Given the description of an element on the screen output the (x, y) to click on. 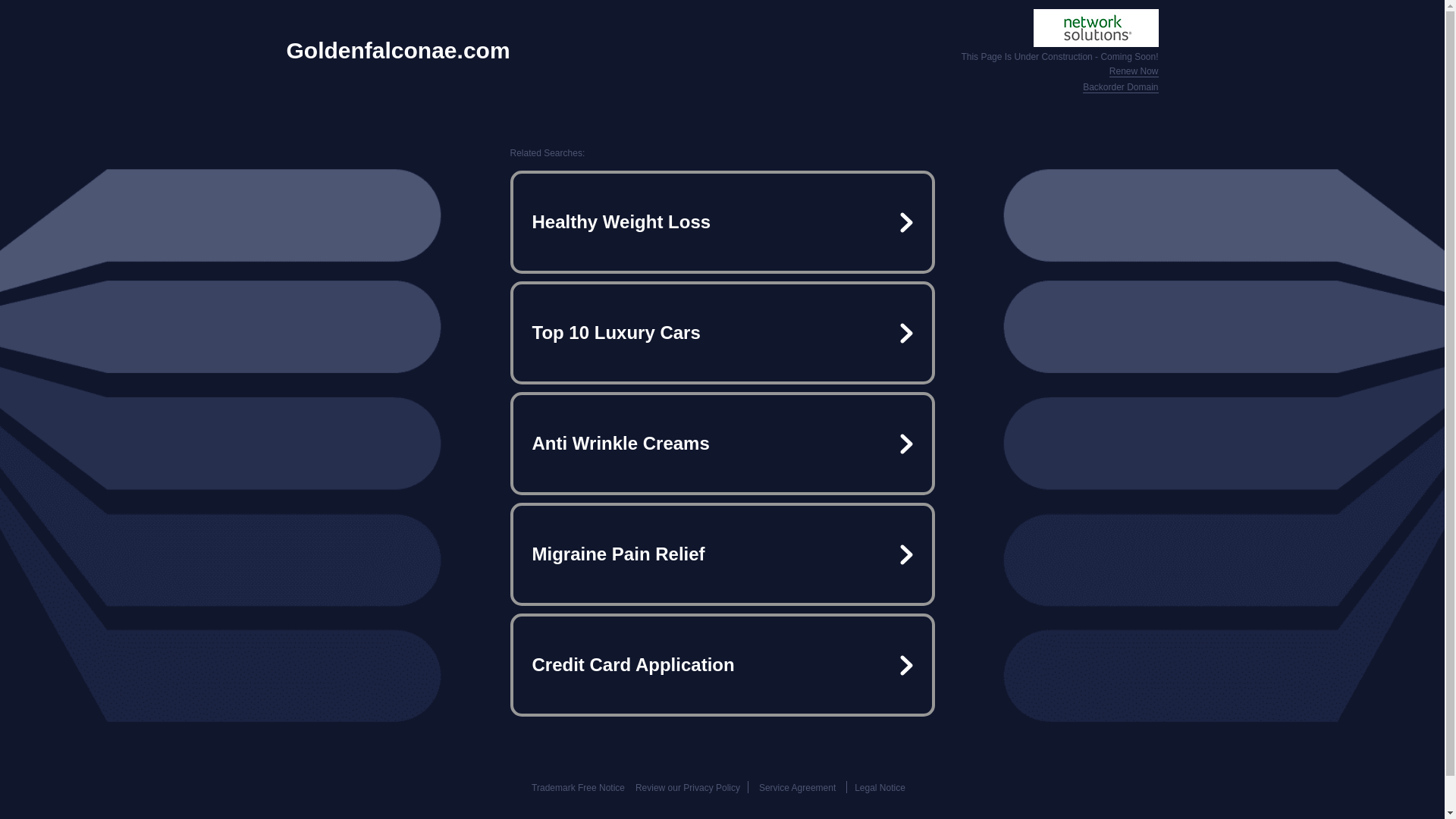
Healthy Weight Loss (721, 222)
Migraine Pain Relief (721, 554)
Renew Now (1133, 71)
Top 10 Luxury Cars (721, 332)
Backorder Domain (1120, 87)
Review our Privacy Policy (686, 787)
Goldenfalconae.com (398, 50)
Anti Wrinkle Creams (721, 443)
Migraine Pain Relief (721, 554)
Top 10 Luxury Cars (721, 332)
Trademark Free Notice (577, 787)
Credit Card Application (721, 664)
Credit Card Application (721, 664)
Anti Wrinkle Creams (721, 443)
Service Agreement (796, 787)
